Given the description of an element on the screen output the (x, y) to click on. 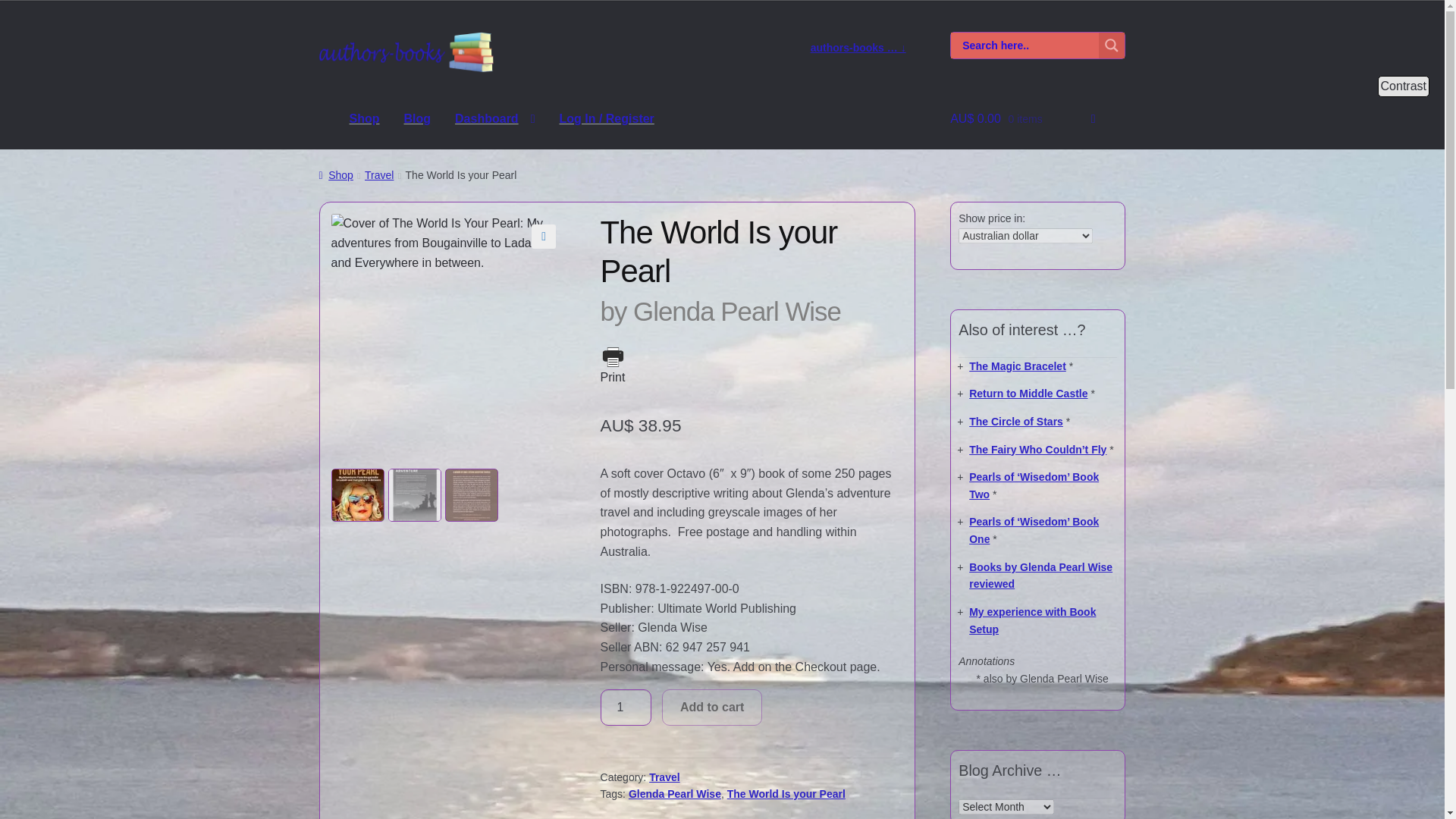
Shop (335, 174)
1 (625, 707)
Dashboard (494, 118)
Toggle background image. (1403, 85)
Shop (364, 118)
View your shopping cart (1037, 118)
Contrast (1403, 85)
Travel (379, 174)
